Given the description of an element on the screen output the (x, y) to click on. 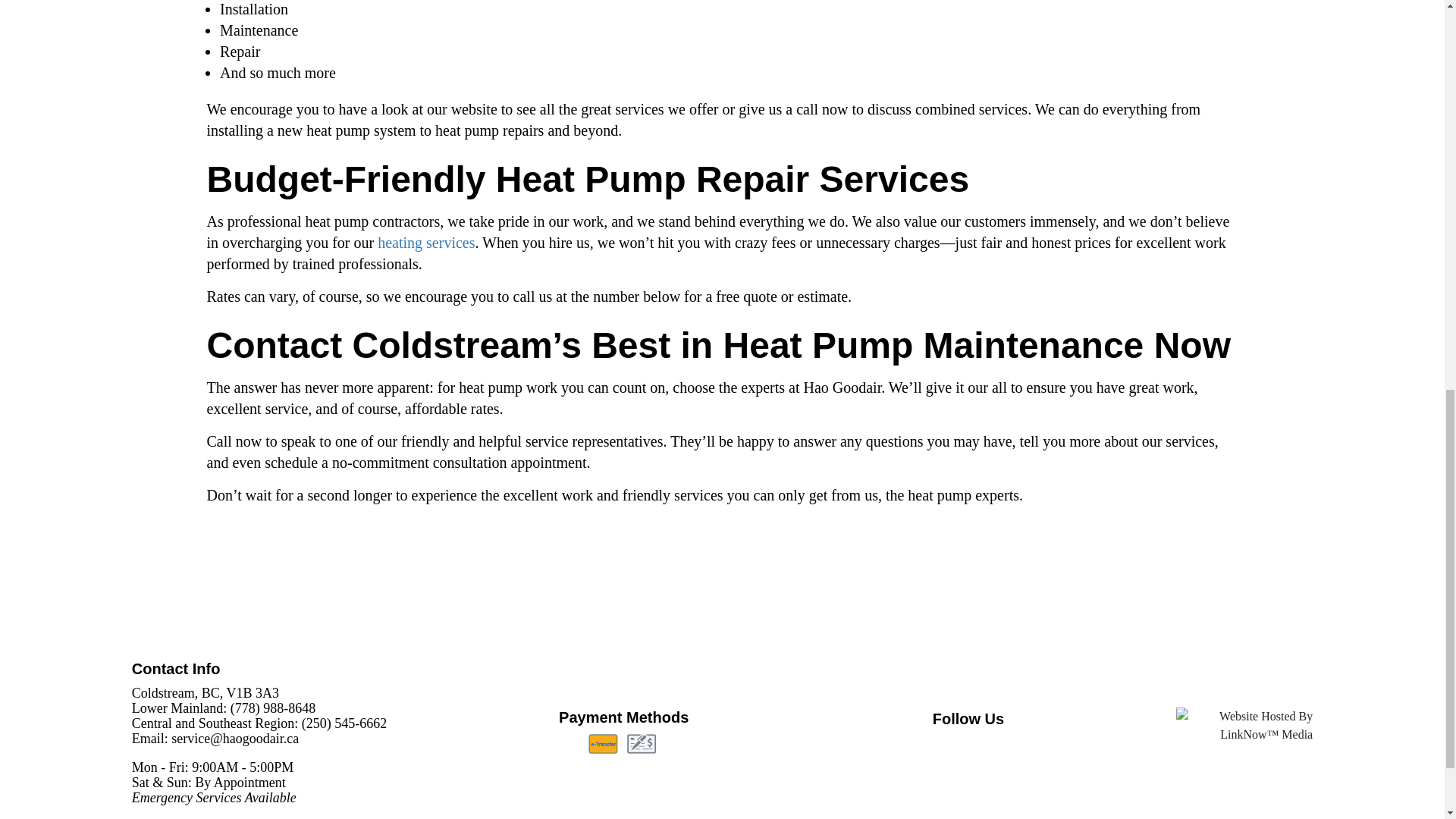
Check (642, 743)
E-Transfer (602, 743)
